Given the description of an element on the screen output the (x, y) to click on. 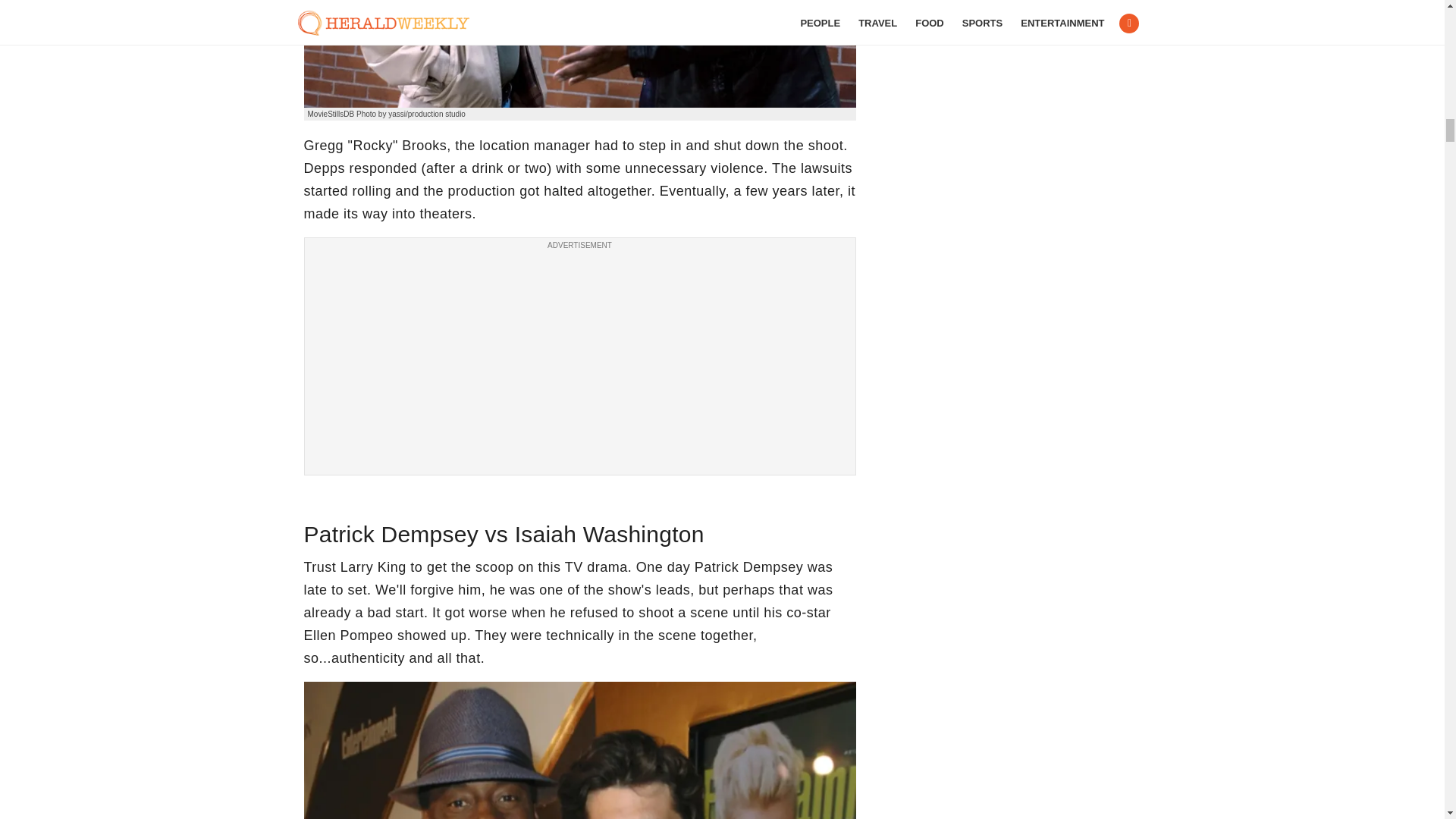
Johnny Depp vs. The Set's Location Manager (579, 53)
Patrick Dempsey vs Isaiah Washington (579, 750)
